Given the description of an element on the screen output the (x, y) to click on. 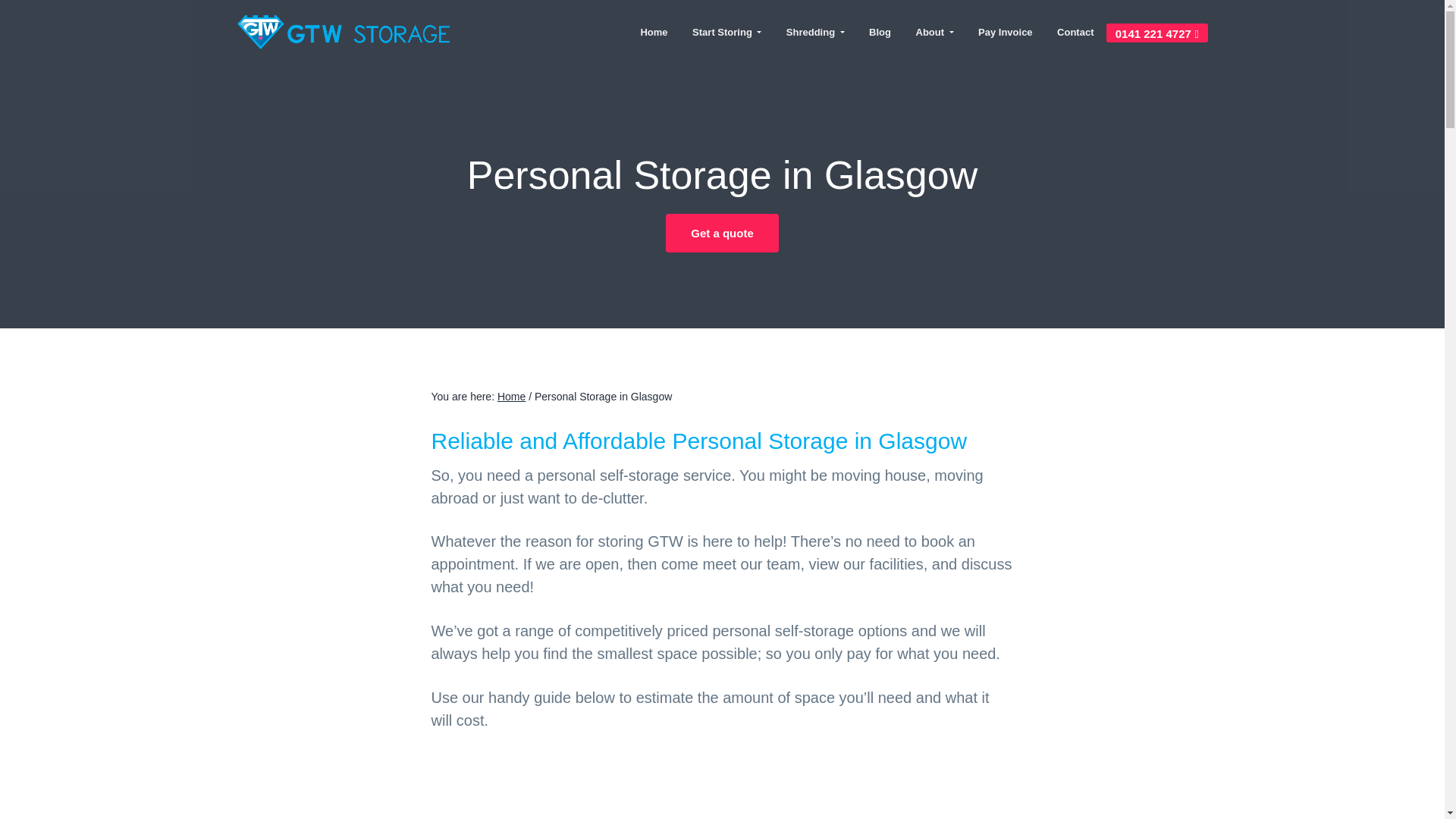
Get a quote (721, 232)
Home (653, 31)
0141 221 4727 (1157, 31)
Pay Invoice (1005, 31)
Start Storing (726, 31)
Blog (879, 31)
Shredding (815, 31)
GTW Storage (276, 55)
Contact (1075, 31)
